Given the description of an element on the screen output the (x, y) to click on. 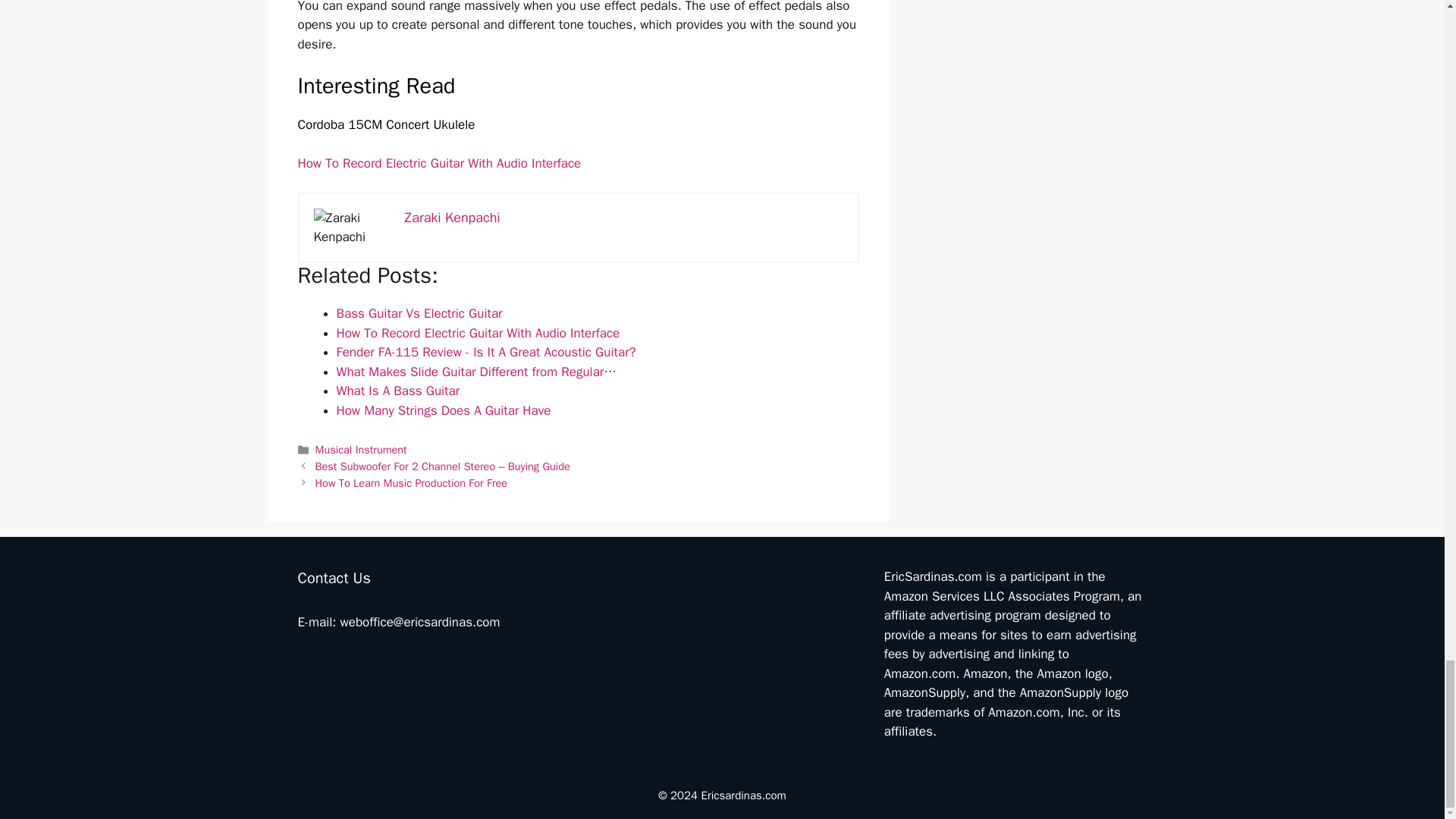
How To Record Electric Guitar With Audio Interface (438, 163)
Fender FA-115 Review - Is It A Great Acoustic Guitar? (486, 351)
How Many Strings Does A Guitar Have (443, 410)
How To Record Electric Guitar With Audio Interface (478, 333)
Bass Guitar Vs Electric Guitar (419, 313)
Zaraki Kenpachi (452, 217)
How To Learn Music Production For Free (410, 482)
Cordoba 15CM Concert Ukulele (385, 124)
Musical Instrument (361, 449)
What Is A Bass Guitar (398, 390)
